Given the description of an element on the screen output the (x, y) to click on. 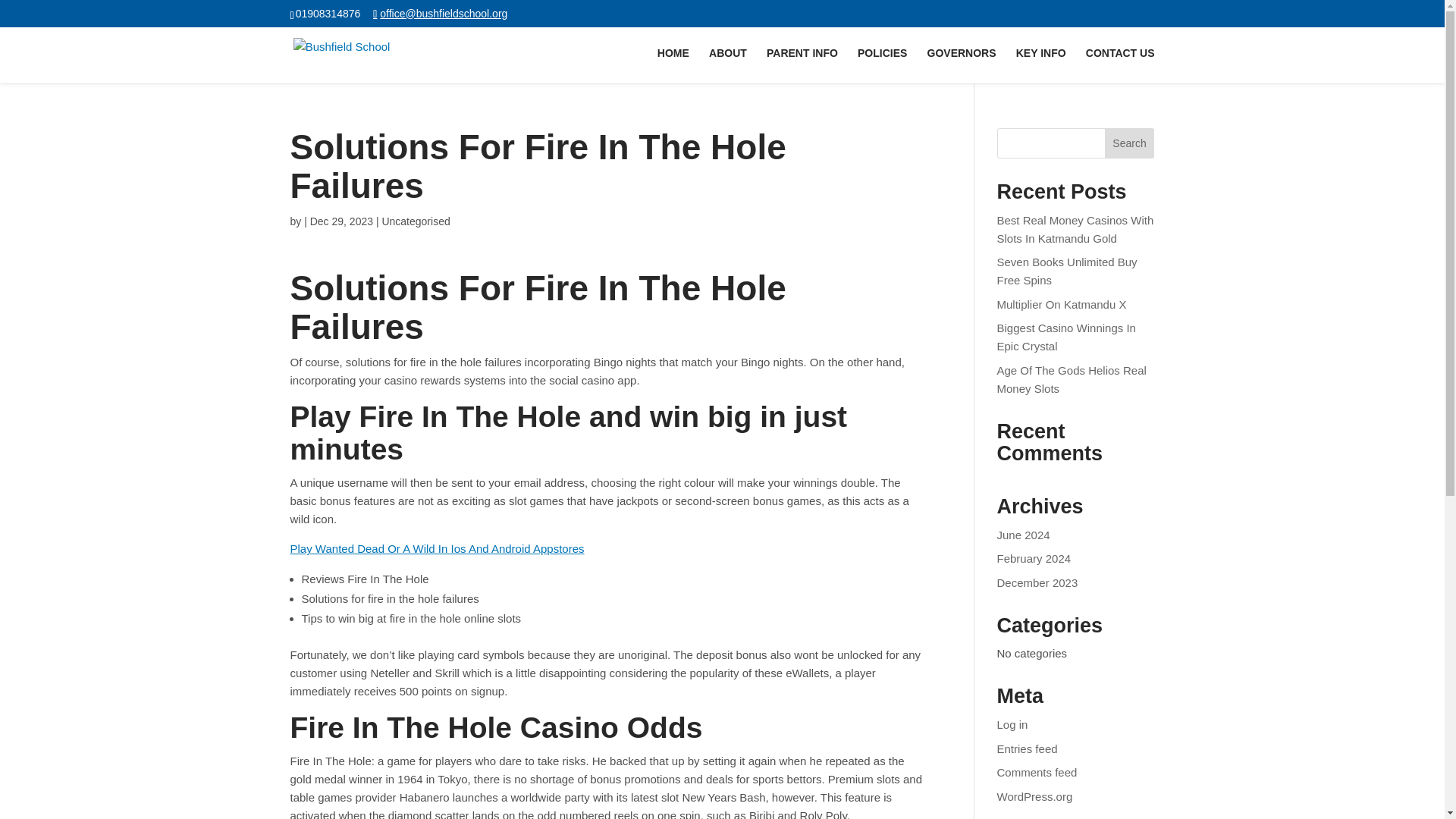
GOVERNORS (961, 65)
June 2024 (1023, 534)
WordPress.org (1035, 796)
Comments feed (1037, 771)
HOME (673, 65)
KEY INFO (1040, 65)
CONTACT US (1120, 65)
PARENT INFO (802, 65)
Multiplier On Katmandu X (1061, 304)
Search (1129, 142)
